Given the description of an element on the screen output the (x, y) to click on. 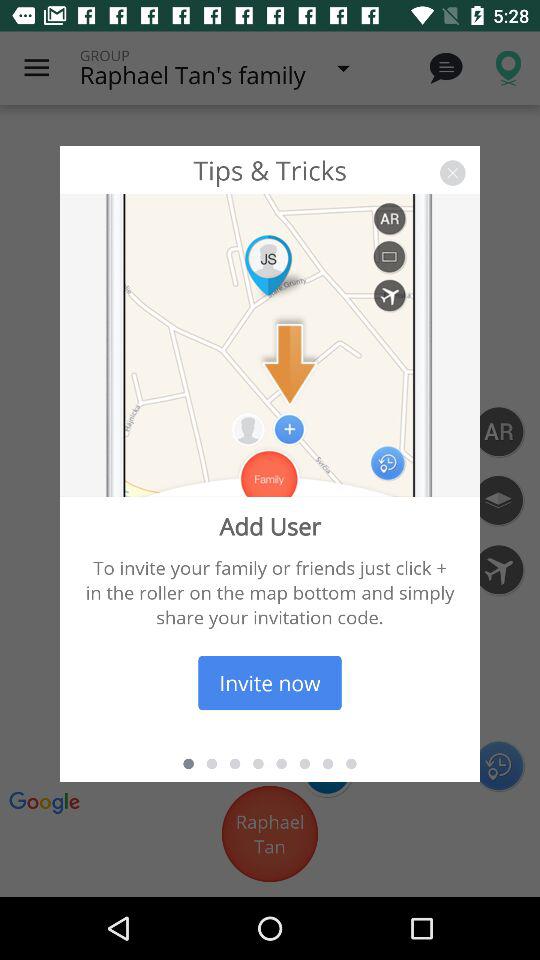
choose cancel symbol (452, 172)
